Given the description of an element on the screen output the (x, y) to click on. 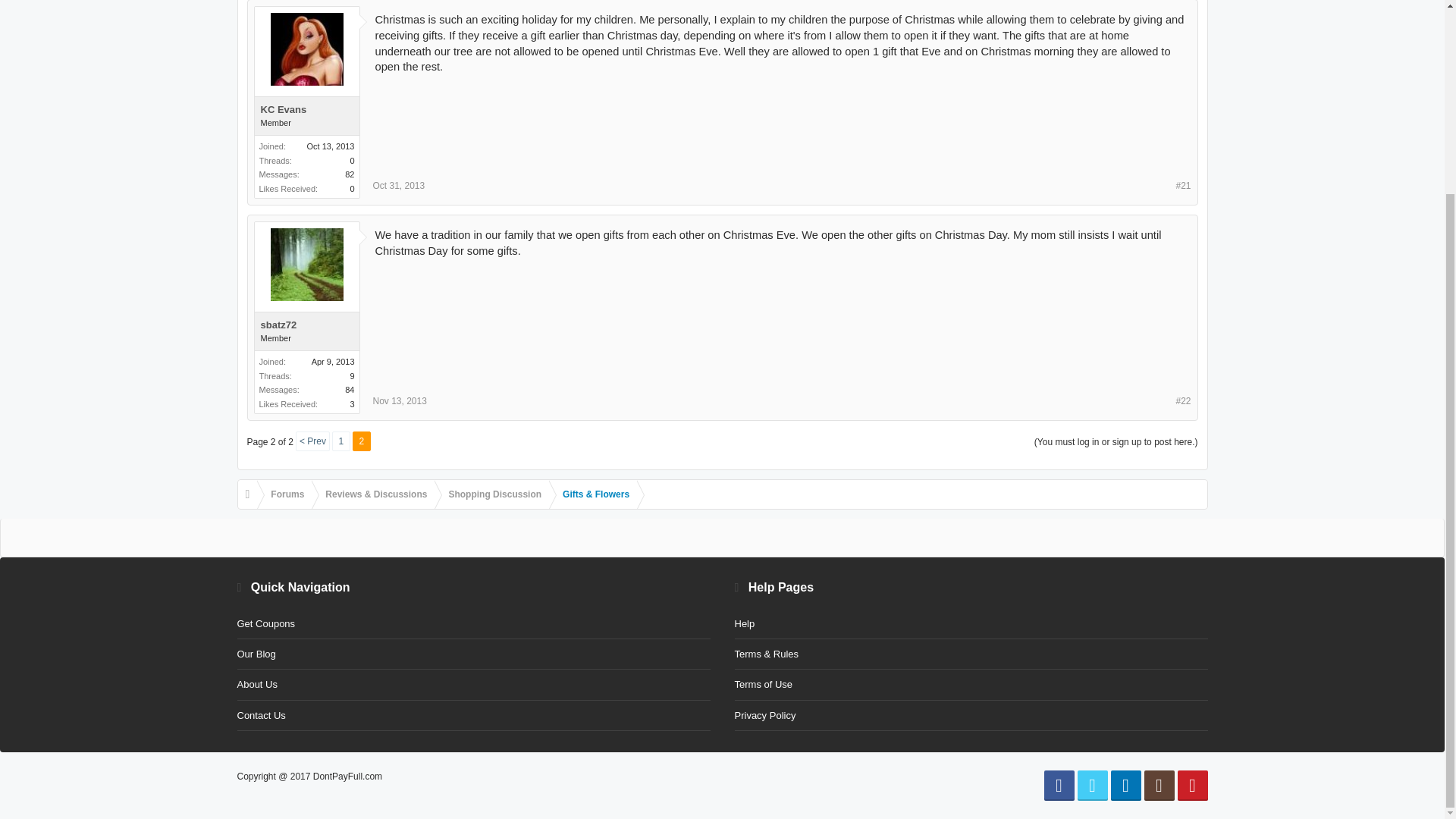
Permalink (398, 185)
Permalink (399, 400)
Oct 31, 2013 (398, 185)
Permalink (1182, 185)
Permalink (1182, 400)
